Given the description of an element on the screen output the (x, y) to click on. 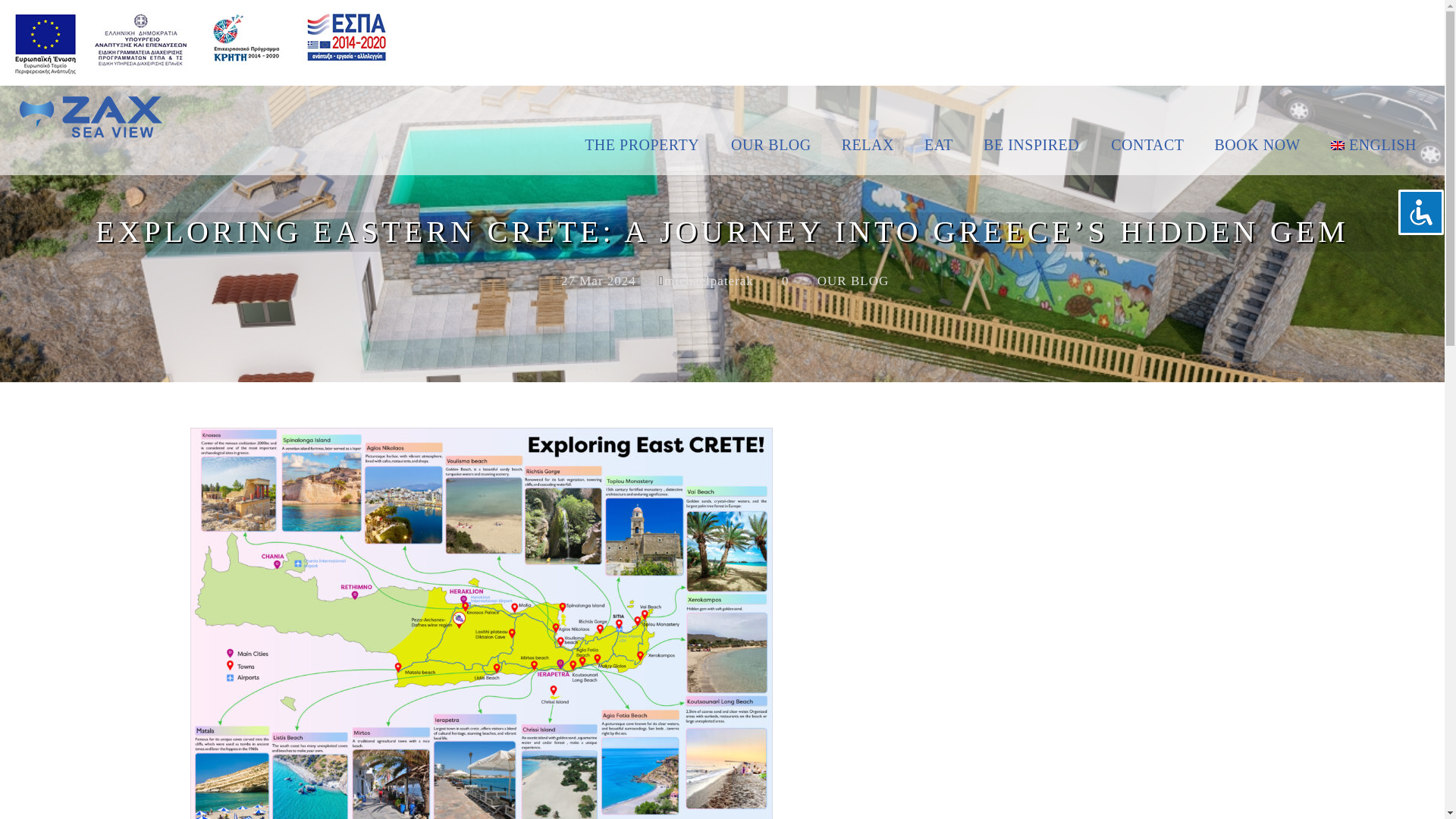
English (1374, 153)
CONTACT (1147, 153)
RELAX (867, 153)
Posts by michaelpaterak (708, 280)
BOOK NOW (1257, 153)
EAT (938, 153)
ENGLISH (1374, 153)
OUR BLOG (771, 153)
BE INSPIRED (1032, 153)
27 Mar 2024 (598, 280)
THE PROPERTY (650, 153)
